Given the description of an element on the screen output the (x, y) to click on. 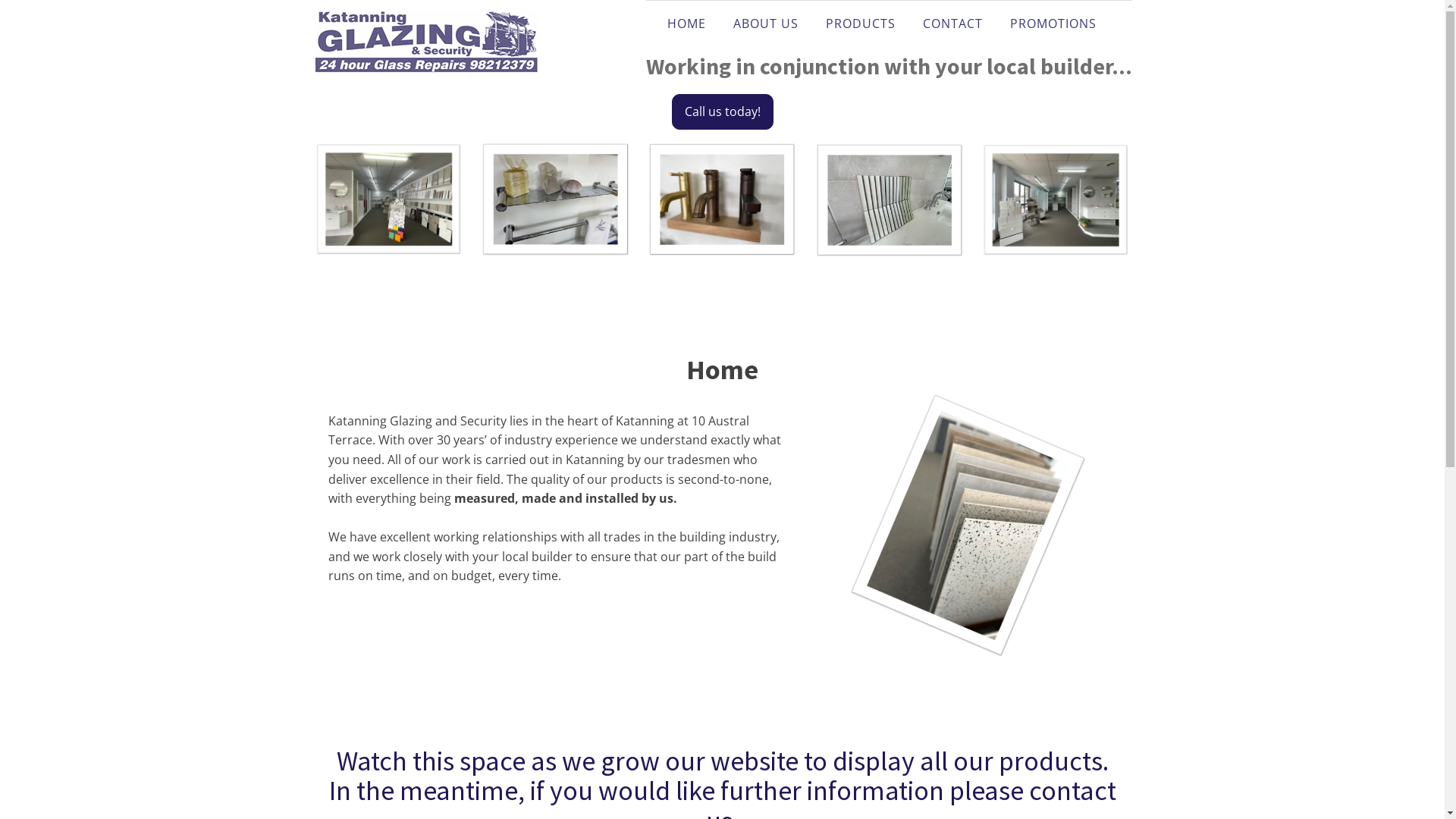
ABOUT US Element type: text (765, 23)
PROMOTIONS Element type: text (1053, 23)
HOME Element type: text (686, 23)
PRODUCTS Element type: text (860, 23)
CONTACT Element type: text (952, 23)
Call us today! Element type: text (722, 112)
